Given the description of an element on the screen output the (x, y) to click on. 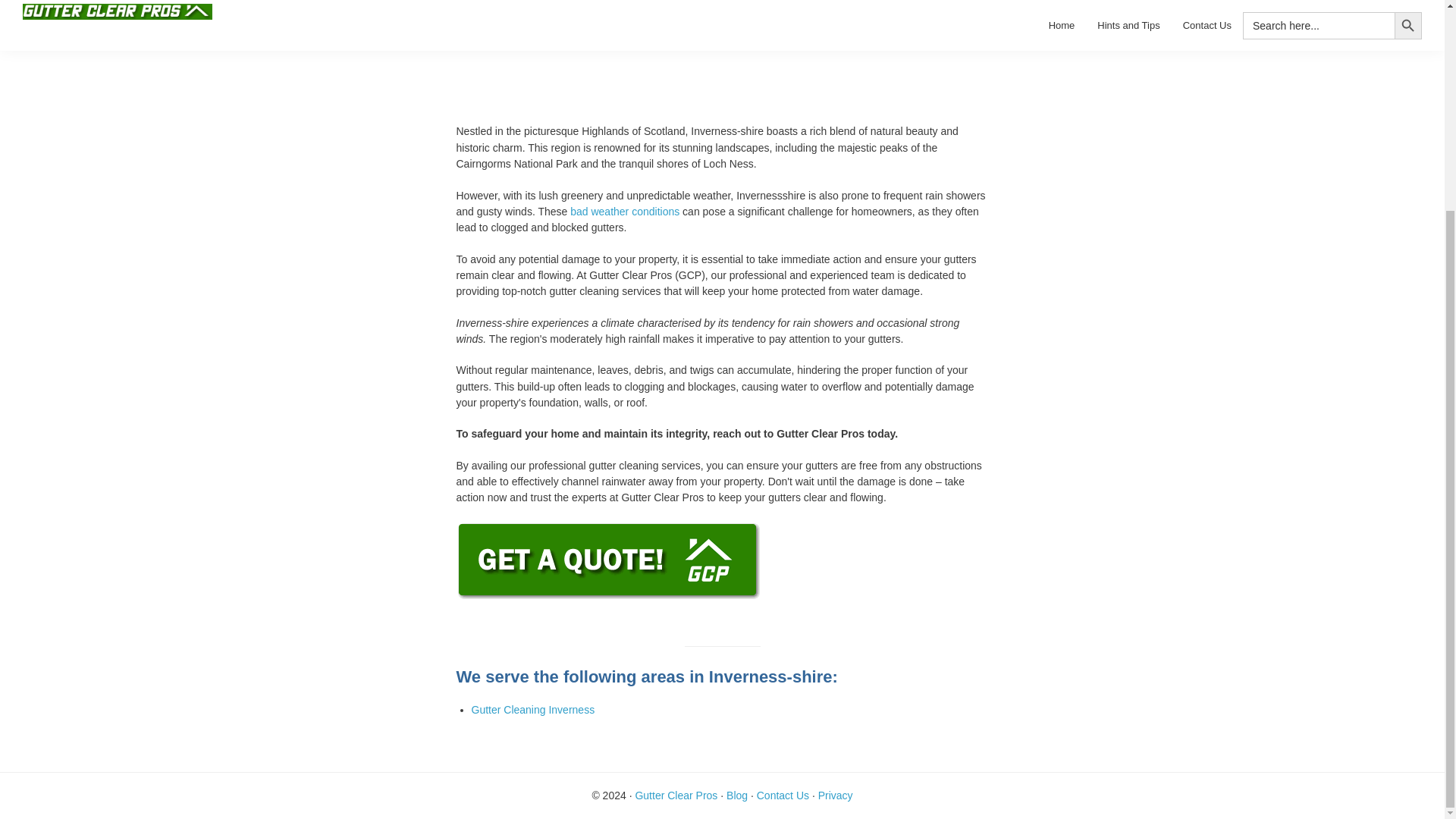
Gutter Cleaning Inverness (533, 709)
bad weather conditions (624, 211)
Gutter Clear Pros (675, 795)
Privacy (835, 795)
Blog (737, 795)
Google map results for Inverness-shire in UK (722, 52)
Quote (609, 530)
Contact Us (783, 795)
